Given the description of an element on the screen output the (x, y) to click on. 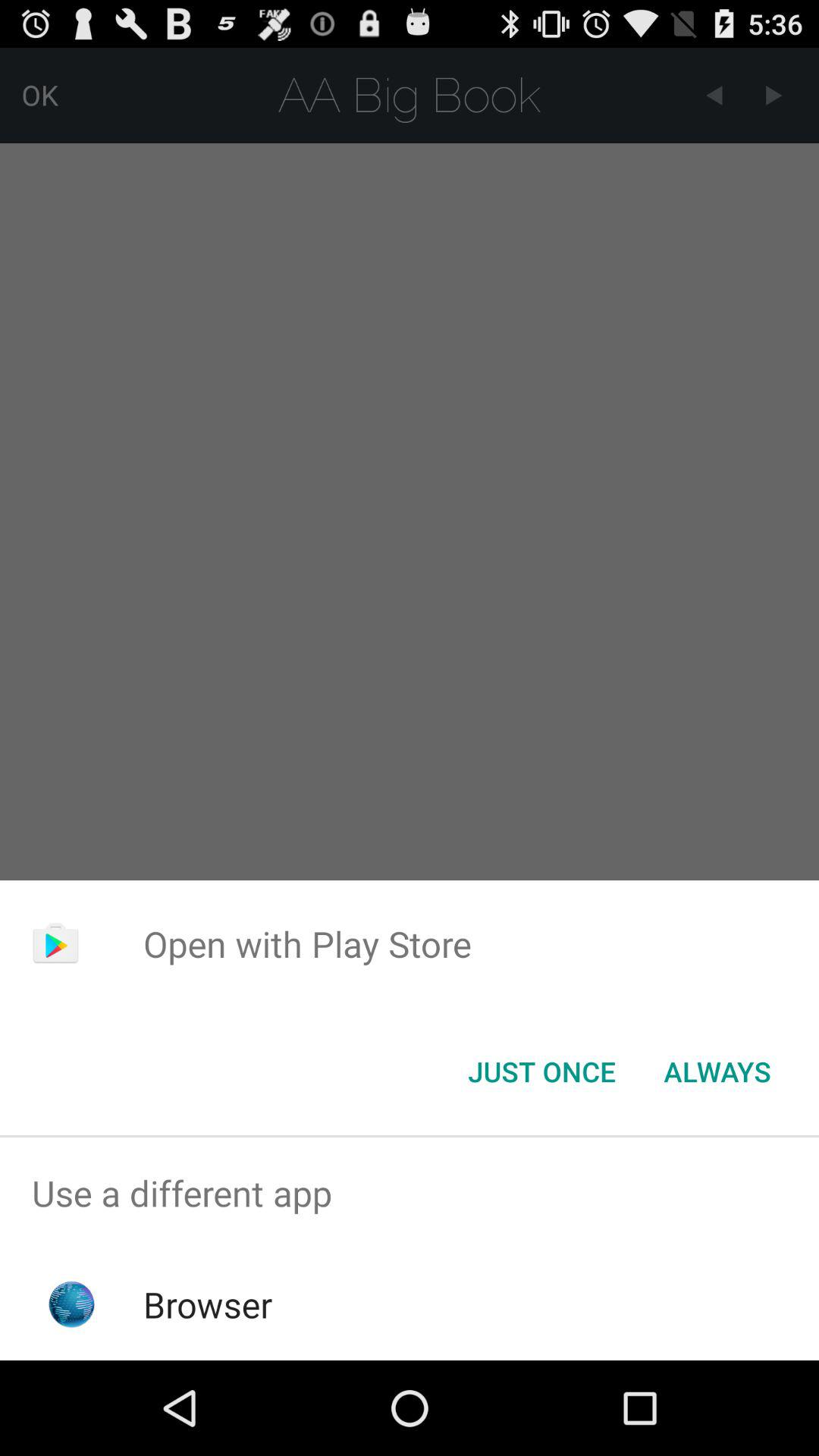
turn on just once item (541, 1071)
